Given the description of an element on the screen output the (x, y) to click on. 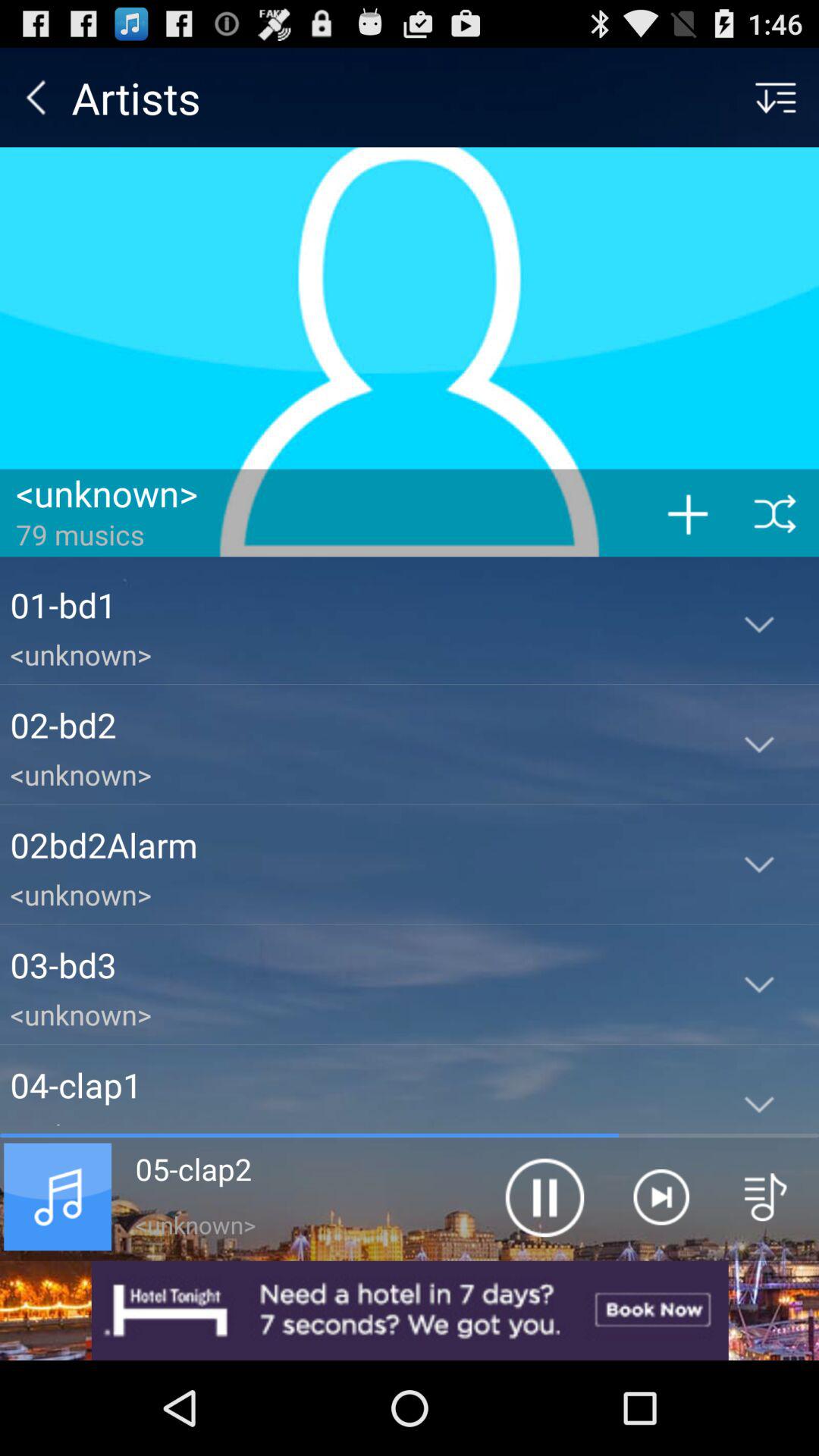
launch item to the right of 06-crash1 item (543, 1197)
